Given the description of an element on the screen output the (x, y) to click on. 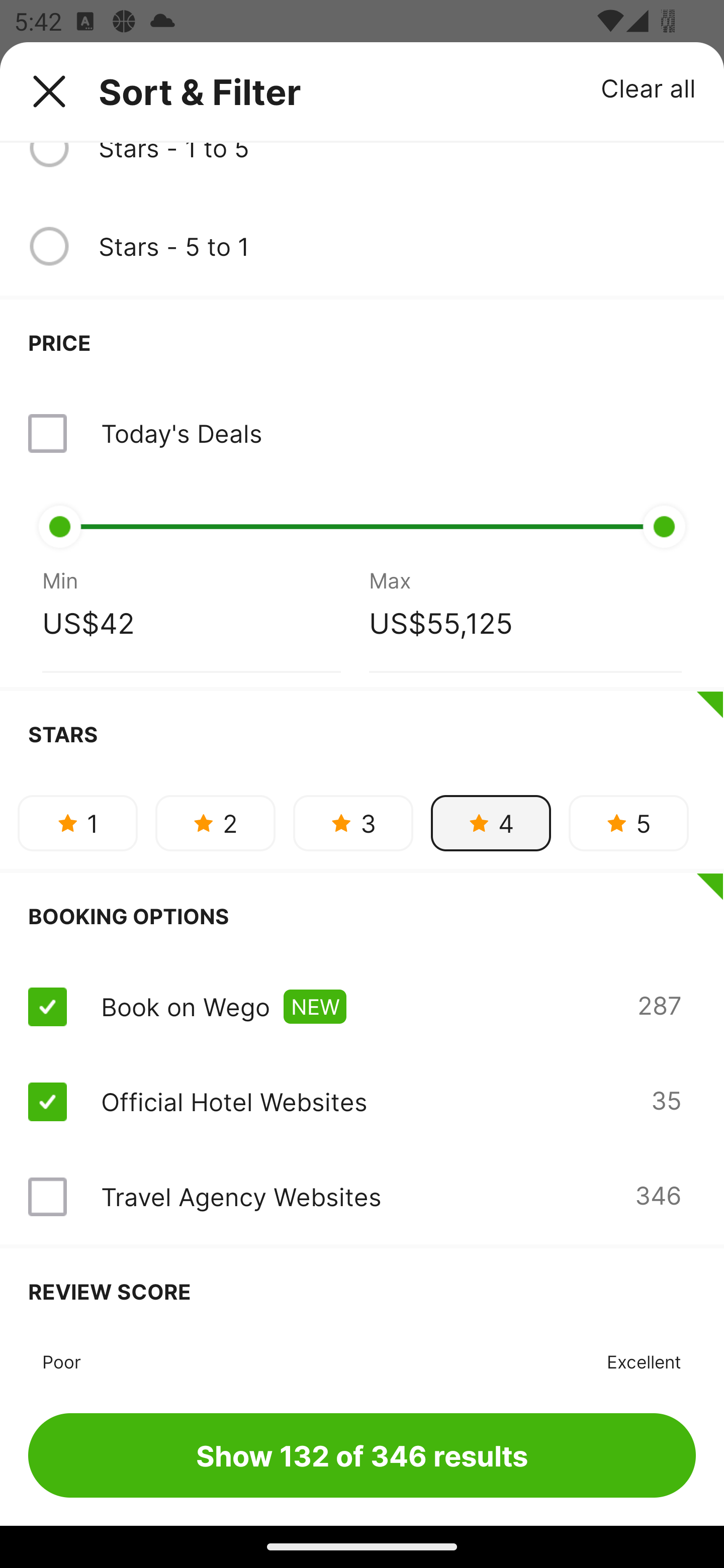
Clear all (648, 87)
Stars - 5 to 1 (396, 245)
Today's Deals (362, 433)
Today's Deals (181, 433)
1 (77, 822)
2 (214, 822)
3 (352, 822)
4 (491, 822)
5 (627, 822)
Book on Wego NEW 287 (362, 1006)
Book on Wego (184, 1006)
Official Hotel Websites 35 (362, 1101)
Official Hotel Websites (233, 1101)
Travel Agency Websites 346 (362, 1196)
Travel Agency Websites (240, 1196)
Poor Excellent (362, 1359)
Show 132 of 346 results (361, 1454)
